Given the description of an element on the screen output the (x, y) to click on. 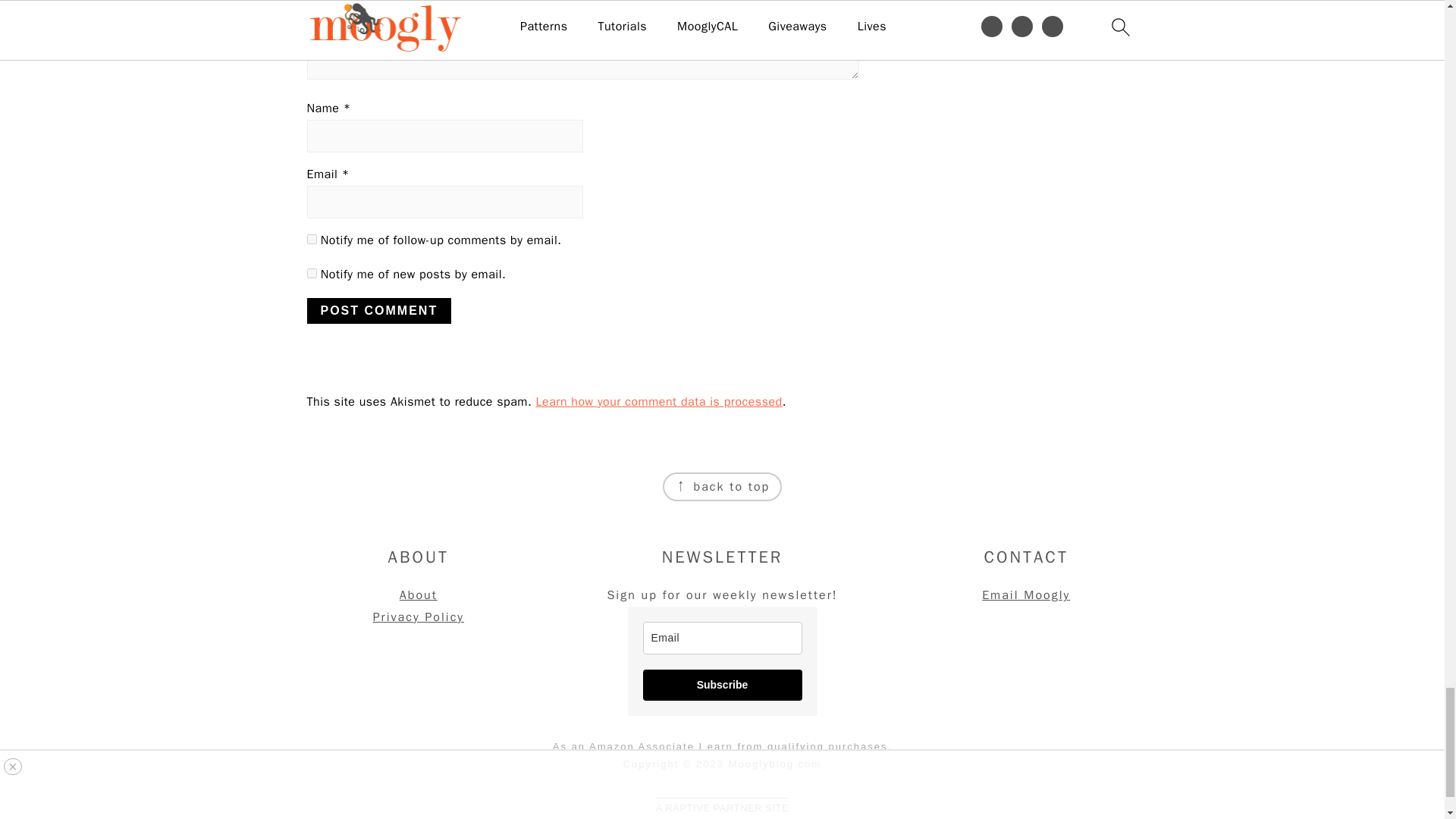
subscribe (310, 273)
subscribe (310, 239)
Post Comment (378, 310)
